Given the description of an element on the screen output the (x, y) to click on. 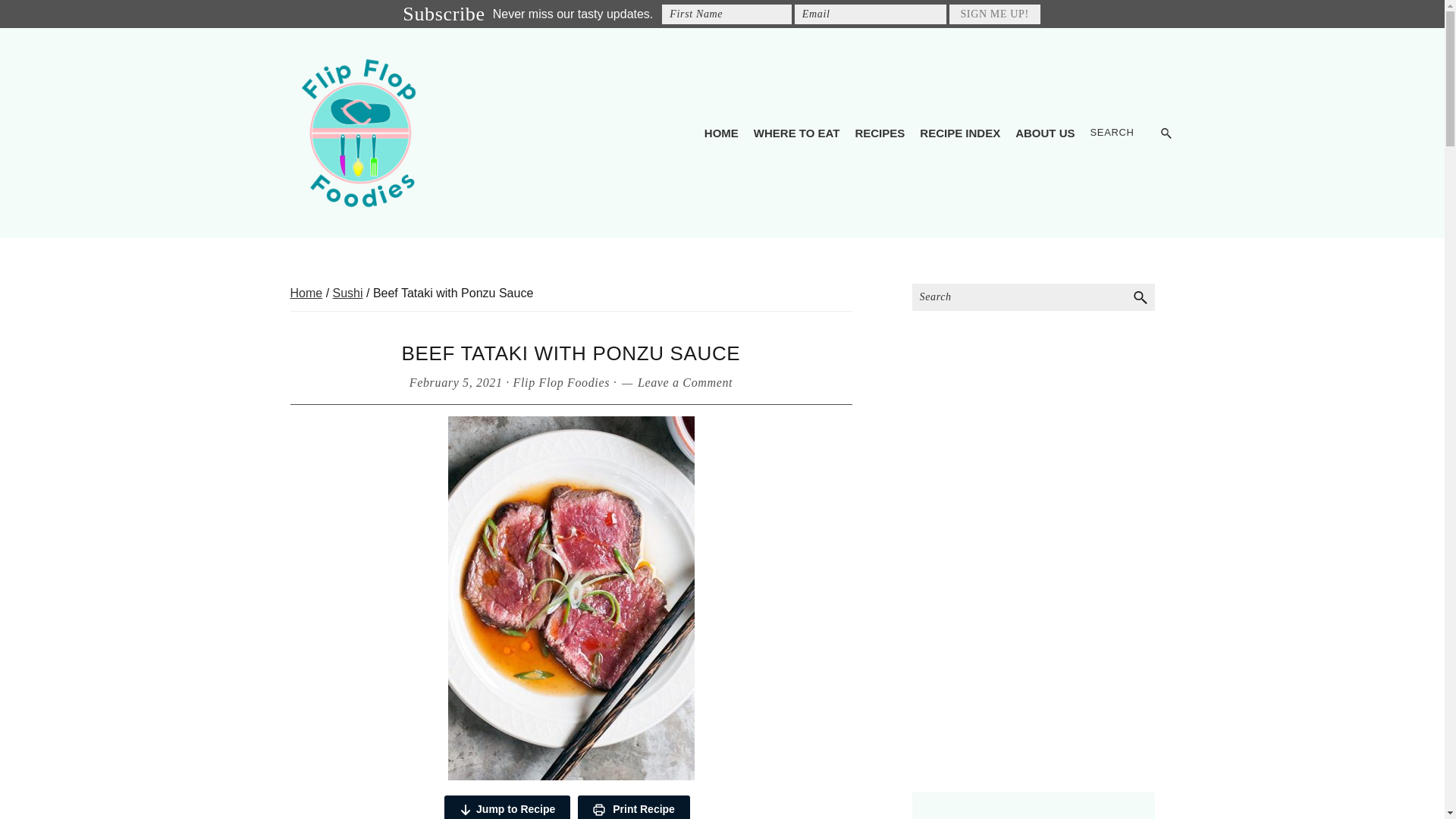
Advertisement (1032, 669)
SIGN ME UP! (995, 14)
SIGN ME UP! (995, 14)
